Given the description of an element on the screen output the (x, y) to click on. 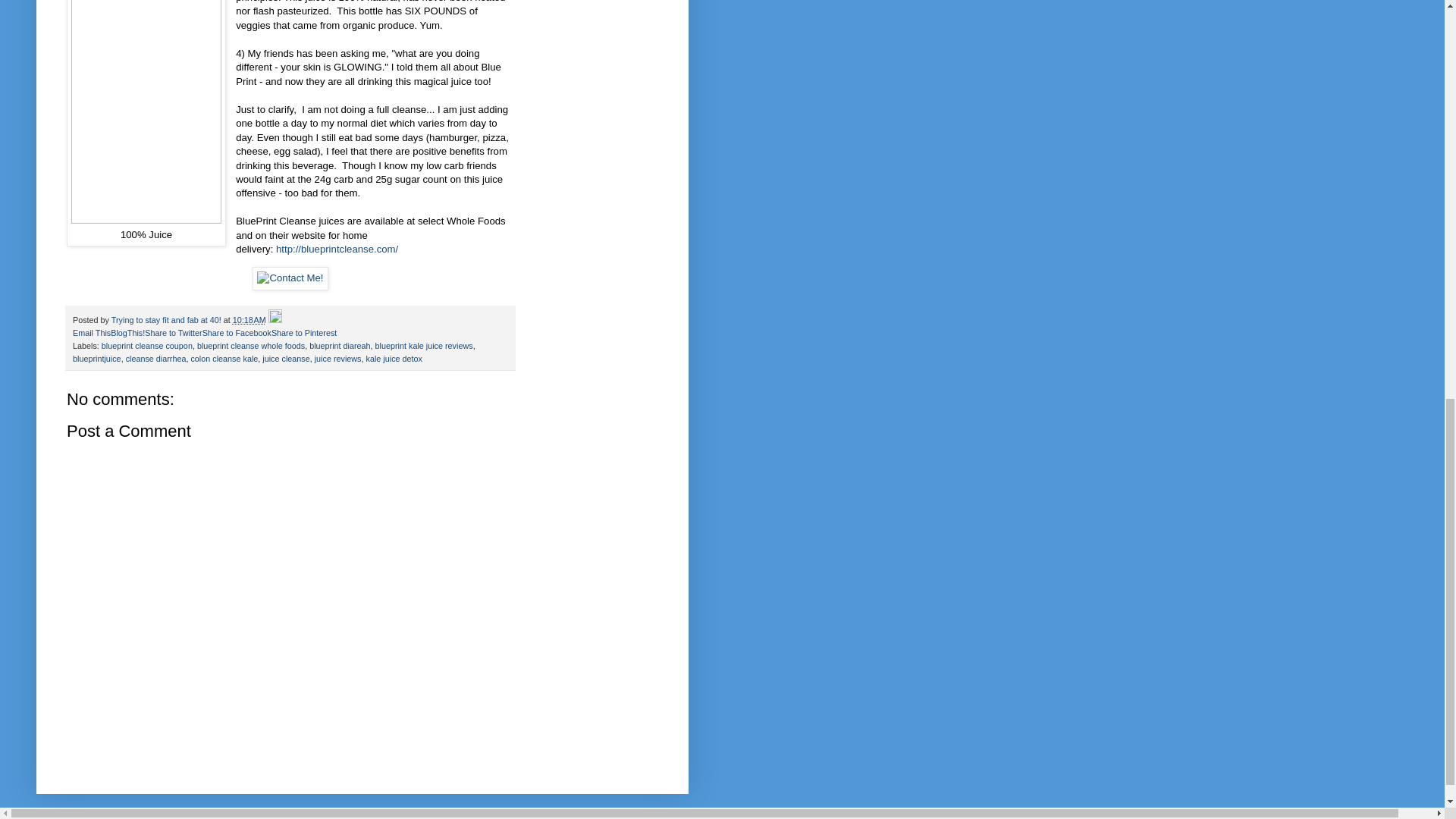
Share to Facebook (236, 332)
BlogThis! (127, 332)
BlogThis! (127, 332)
juice cleanse (285, 358)
Share to Twitter (173, 332)
blueprint cleanse coupon (146, 345)
kale juice detox (394, 358)
Share to Pinterest (303, 332)
colon cleanse kale (223, 358)
Edit Post (274, 319)
